Given the description of an element on the screen output the (x, y) to click on. 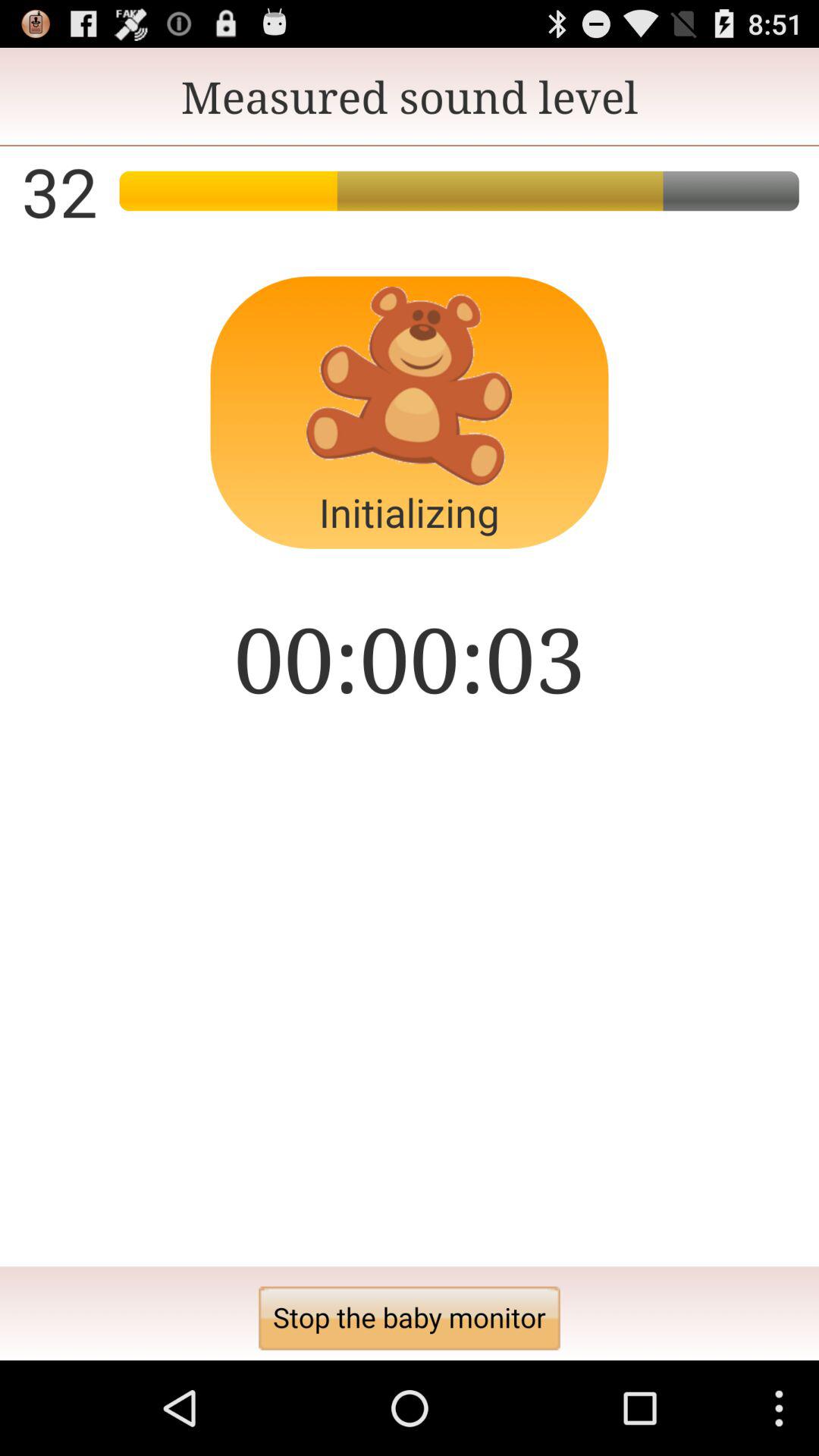
launch the stop the baby icon (409, 1318)
